Given the description of an element on the screen output the (x, y) to click on. 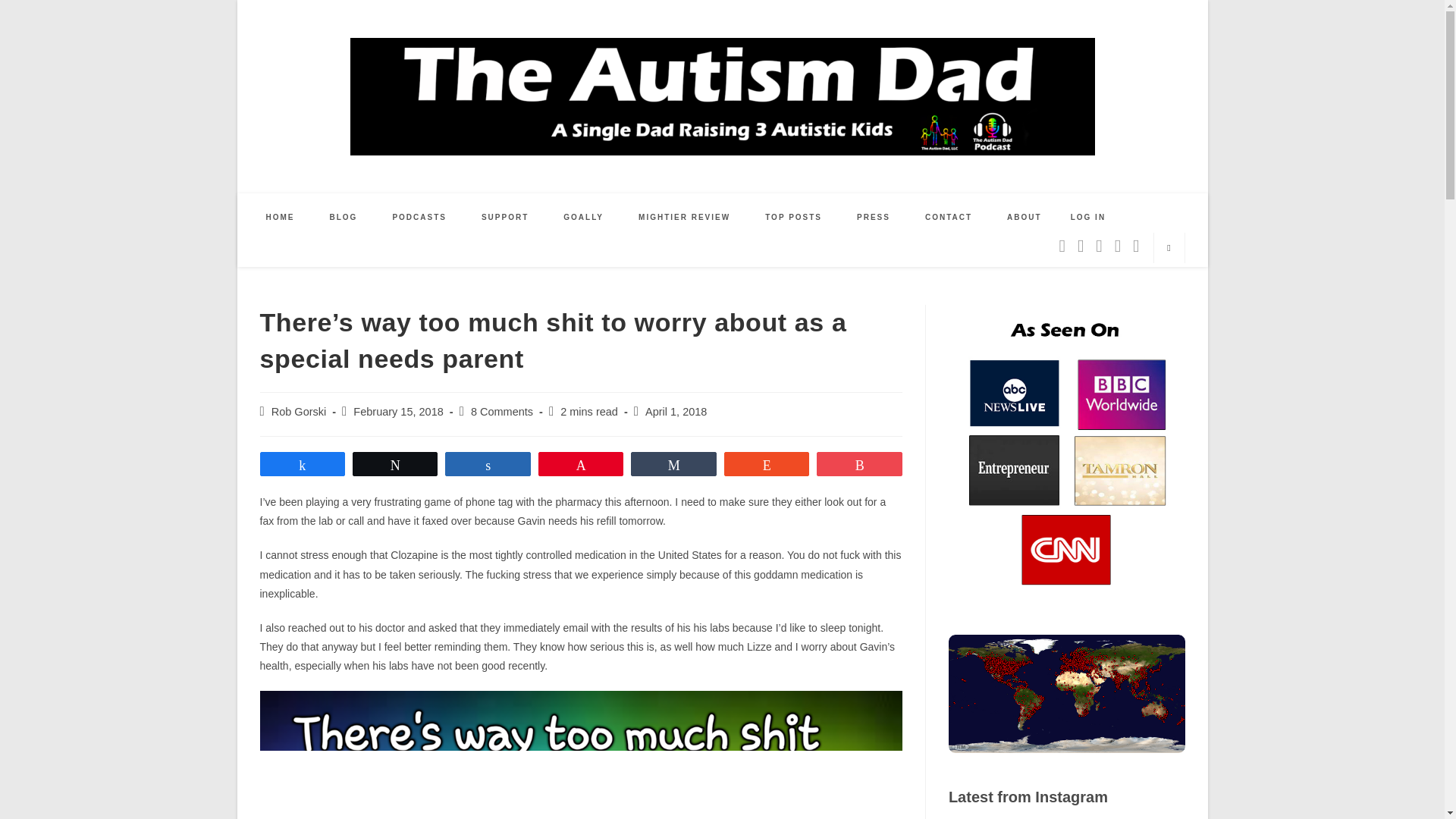
Rob Gorski (298, 411)
CONTACT (948, 217)
LOG IN (1087, 217)
SUPPORT (505, 217)
TOP POSTS (794, 217)
PRESS (873, 217)
GOALLY (583, 217)
ABOUT (1024, 217)
BLOG (344, 217)
MIGHTIER REVIEW (684, 217)
